Given the description of an element on the screen output the (x, y) to click on. 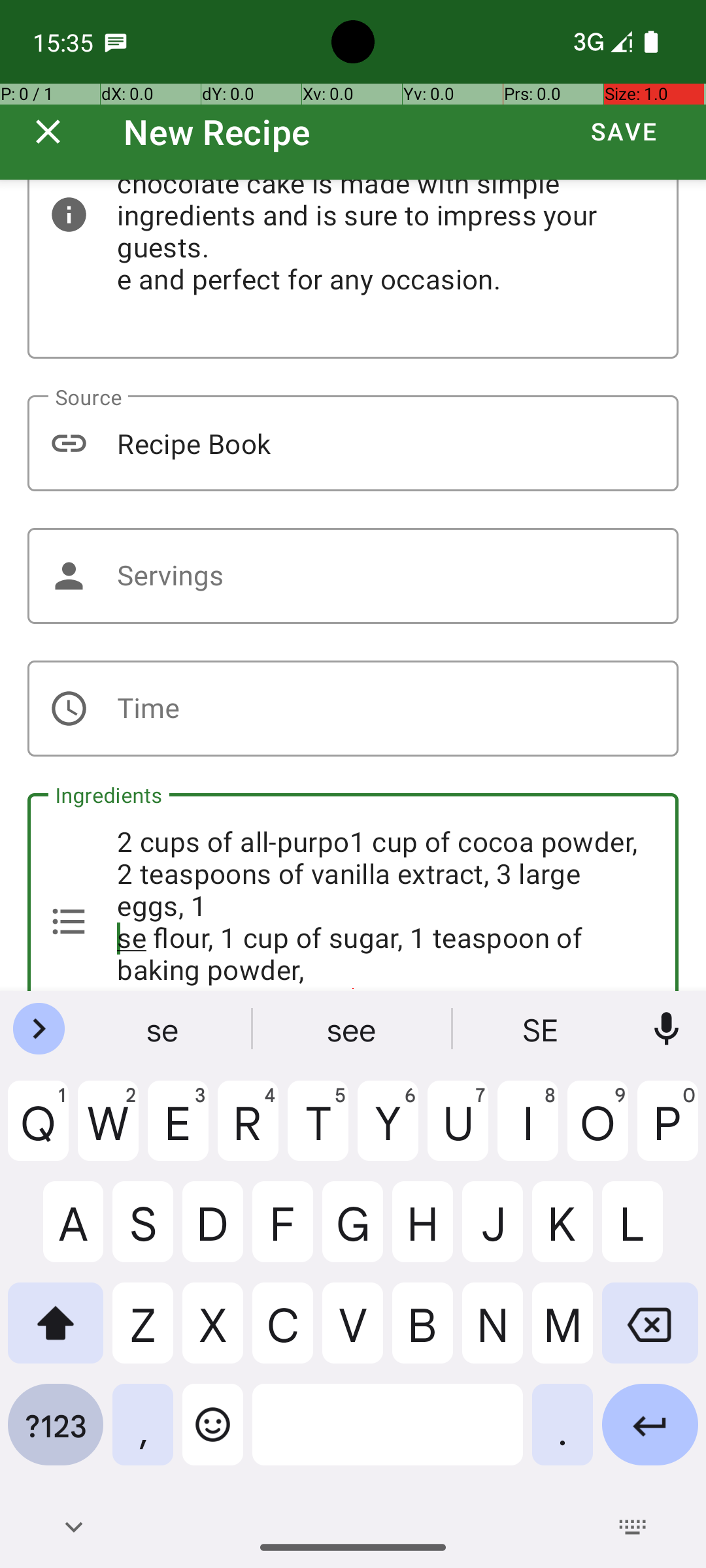
This recipe is a delicious chocolate cake that is easy to makThis rich and moist chocolate cake is made with simple ingredients and is sure to impress your guests.
e and perfect for any occasion.
 Element type: android.widget.EditText (352, 268)
Recipe Book Element type: android.widget.EditText (352, 443)
2 cups of all-purpo1 cup of cocoa powder, 2 teaspoons of vanilla extract, 3 large eggs, 1
se flour, 1 cup of sugar, 1 teaspoon of baking powder,
 Element type: android.widget.EditText (352, 892)
se Element type: android.widget.FrameLayout (163, 1028)
see Element type: android.widget.FrameLayout (352, 1028)
SE Element type: android.widget.FrameLayout (541, 1028)
